Given the description of an element on the screen output the (x, y) to click on. 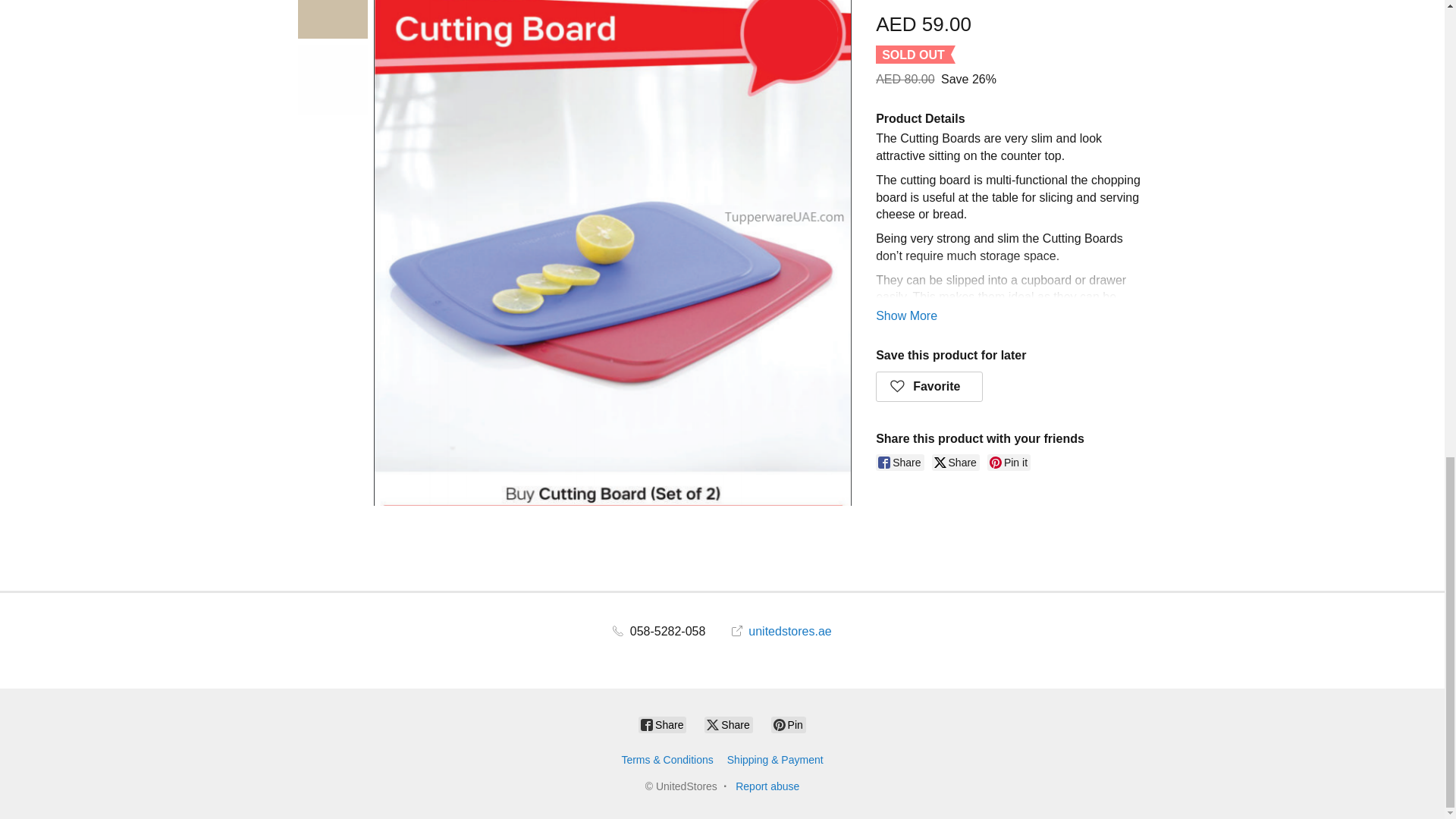
Favorite (929, 386)
Share (955, 462)
Show More (906, 315)
Share (899, 462)
Pin it (1008, 462)
